Given the description of an element on the screen output the (x, y) to click on. 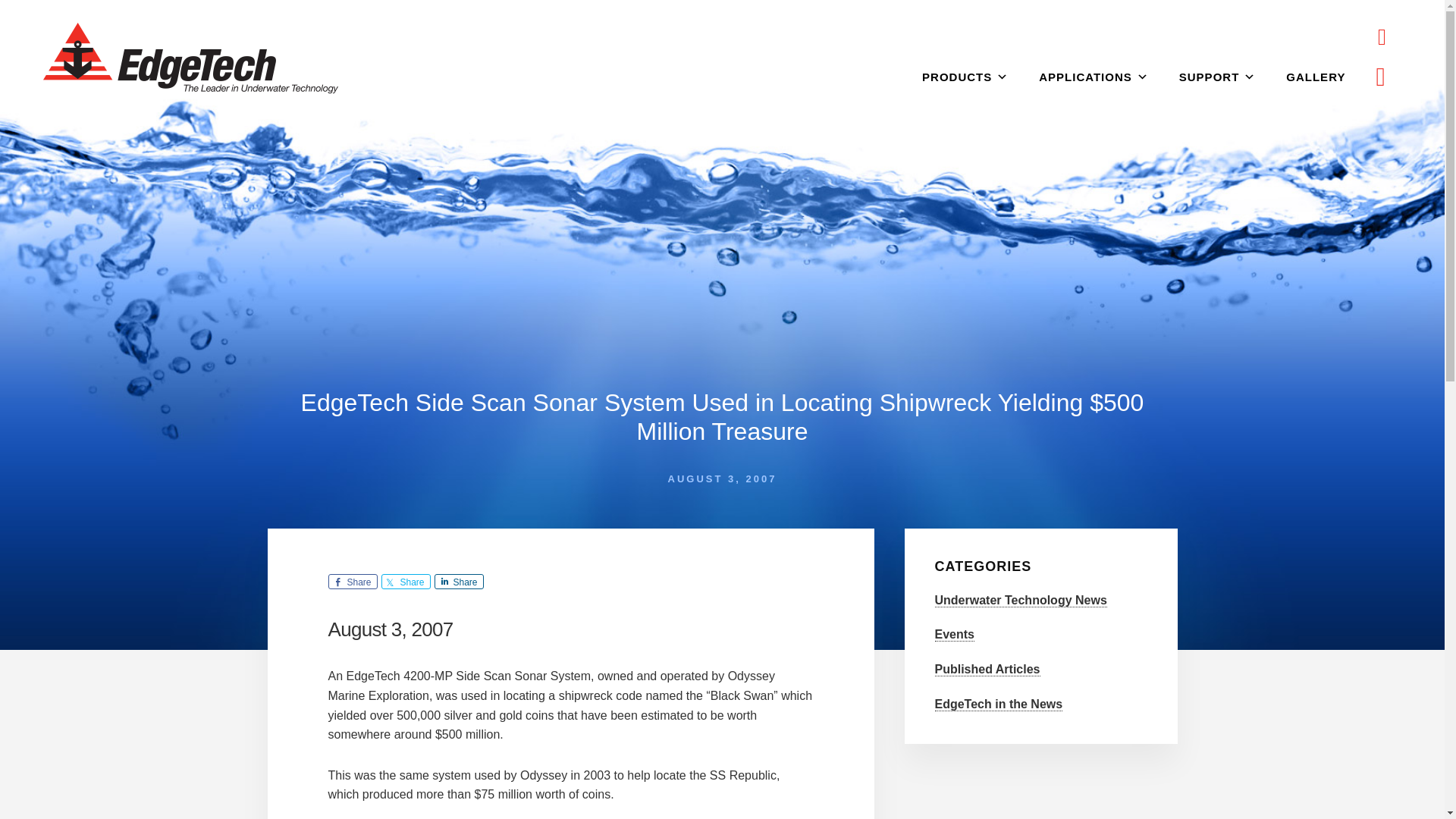
PRODUCTS (965, 76)
